Given the description of an element on the screen output the (x, y) to click on. 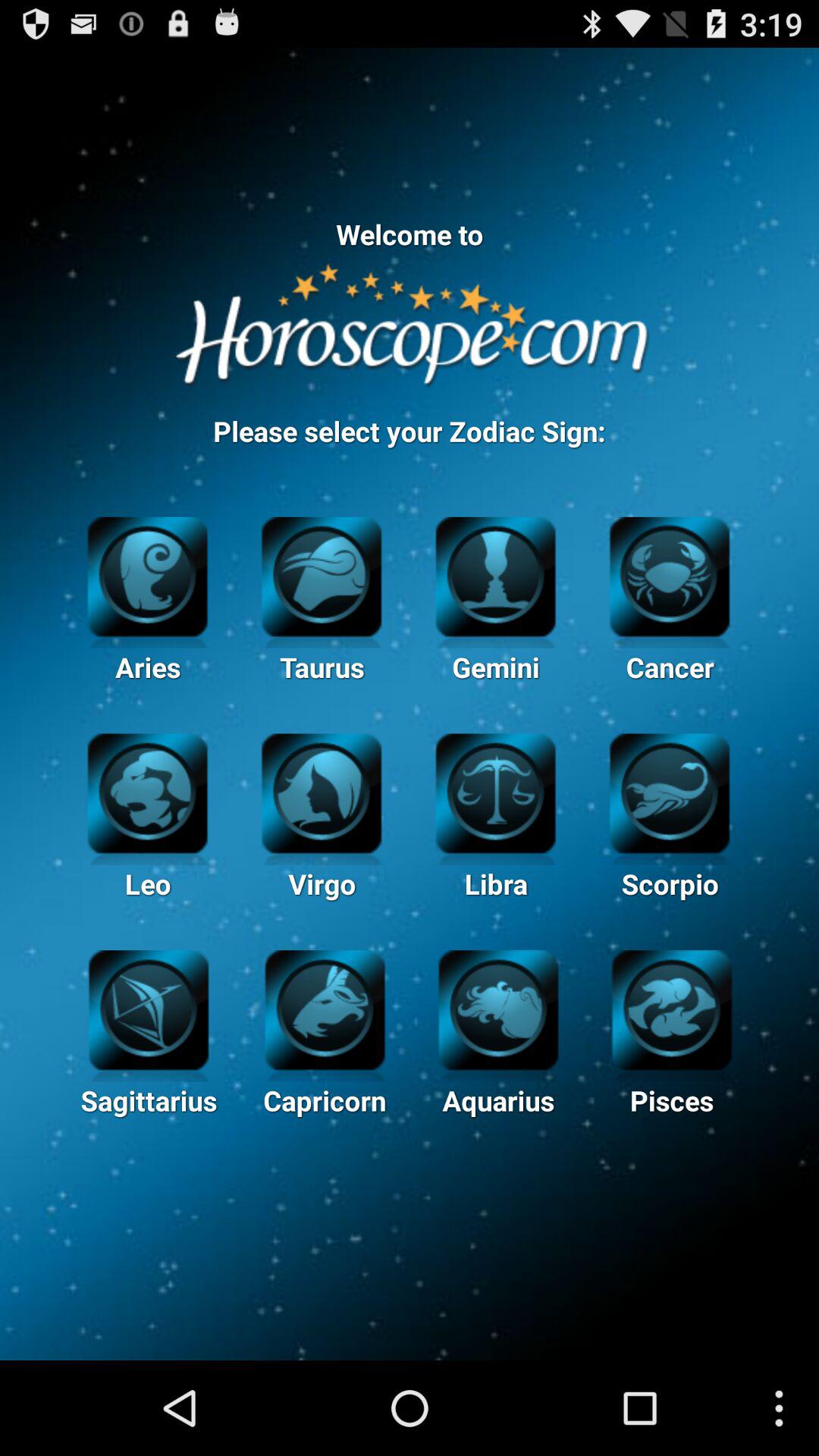
select taurus zodiac sign (321, 574)
